Given the description of an element on the screen output the (x, y) to click on. 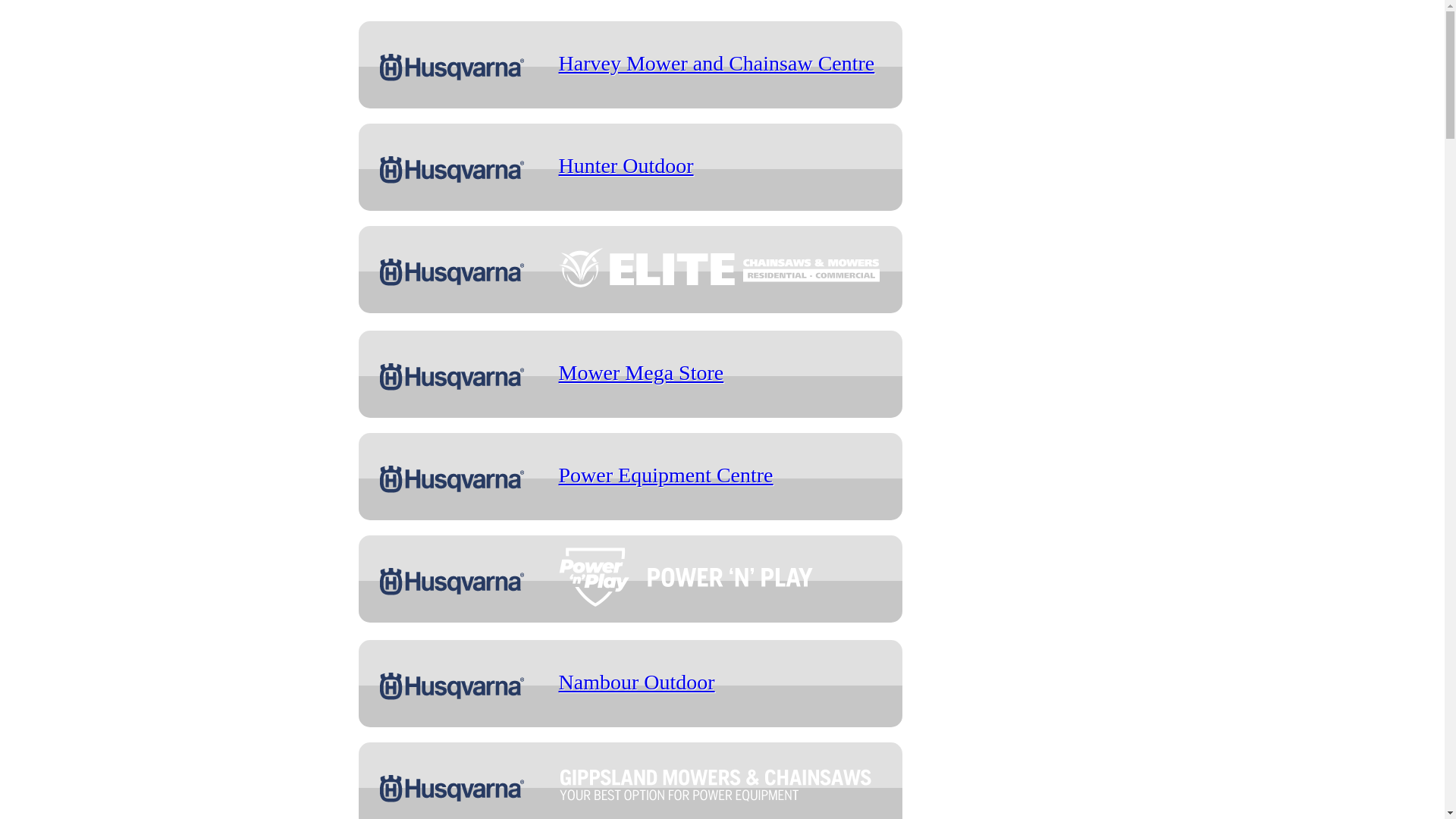
Gippsland Mowers & Chainsaws Element type: hover (721, 784)
Husqvarna Element type: text (451, 787)
Husqvarna Power n' Play Element type: hover (721, 576)
Husqvarna Element type: text (451, 375)
Nambour Outdoor Element type: text (636, 681)
Husqvarna Element type: text (451, 66)
Husqvarna Element type: text (451, 580)
Mower Mega Store Element type: text (640, 372)
Elite Solutions Element type: hover (721, 267)
Husqvarna Element type: text (451, 478)
Husqvarna Element type: text (451, 168)
Hunter Outdoor Element type: text (625, 165)
Harvey Mower and Chainsaw Centre Element type: text (716, 63)
Power Equipment Centre Element type: text (665, 474)
Husqvarna Element type: text (451, 271)
Husqvarna Element type: text (451, 685)
